Given the description of an element on the screen output the (x, y) to click on. 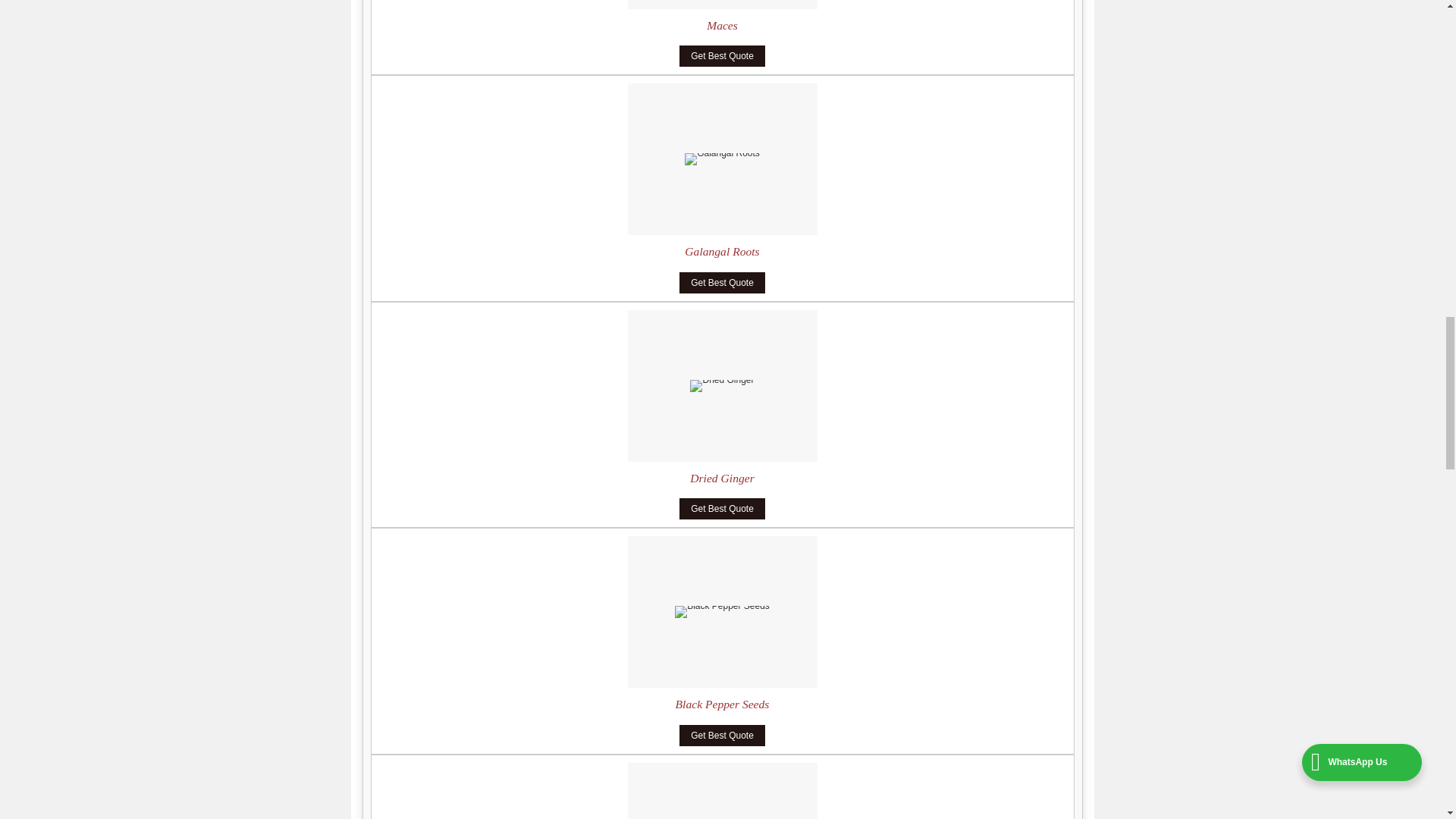
Get Best Quote (722, 55)
Black Pepper Seeds (722, 703)
Get Best Quote (722, 735)
Galangal Roots (721, 250)
Get Best Quote (722, 508)
Dried Ginger (722, 477)
Get Best Quote (722, 282)
Maces (722, 24)
